Given the description of an element on the screen output the (x, y) to click on. 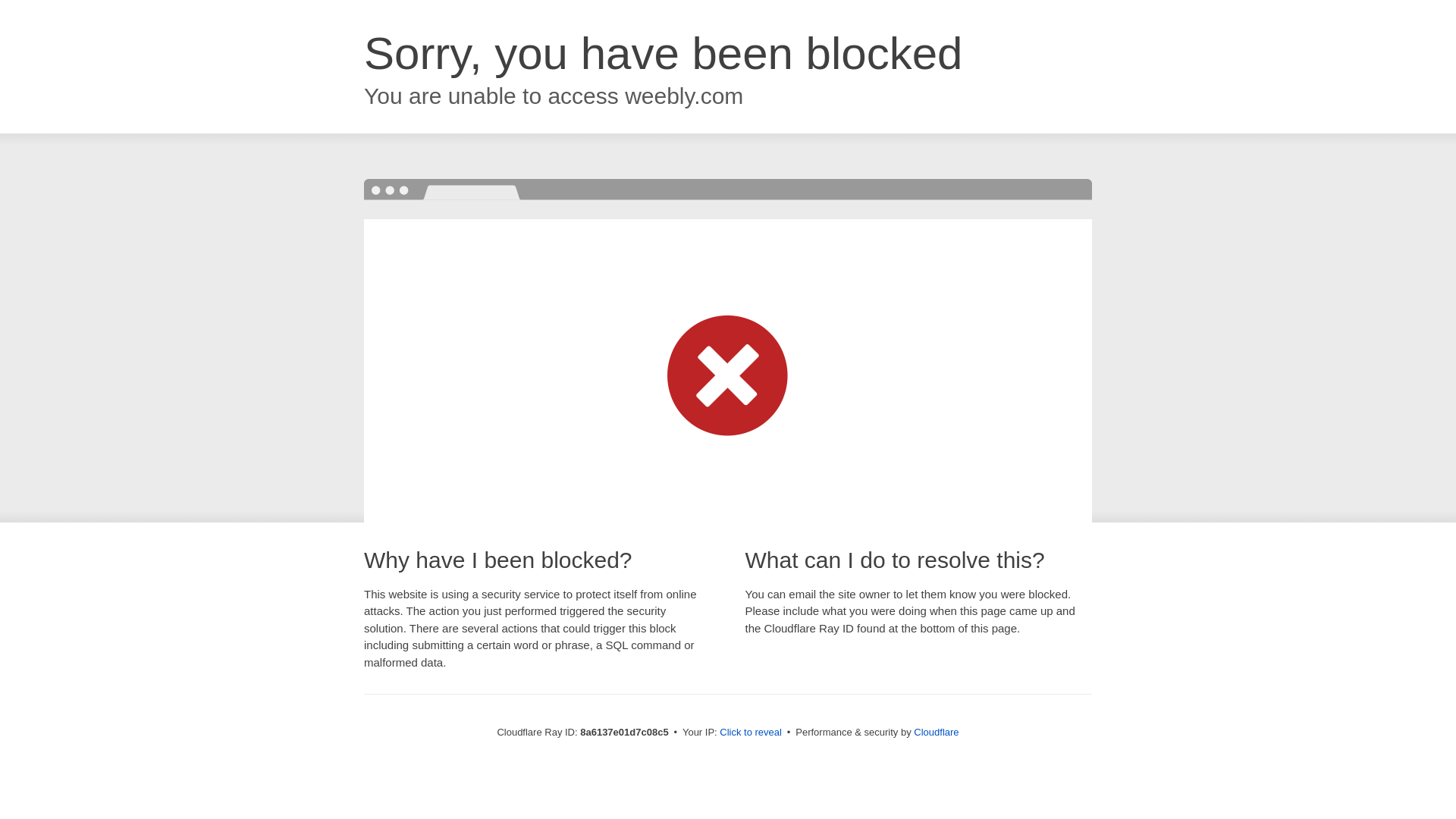
Cloudflare (936, 731)
Click to reveal (750, 732)
